Given the description of an element on the screen output the (x, y) to click on. 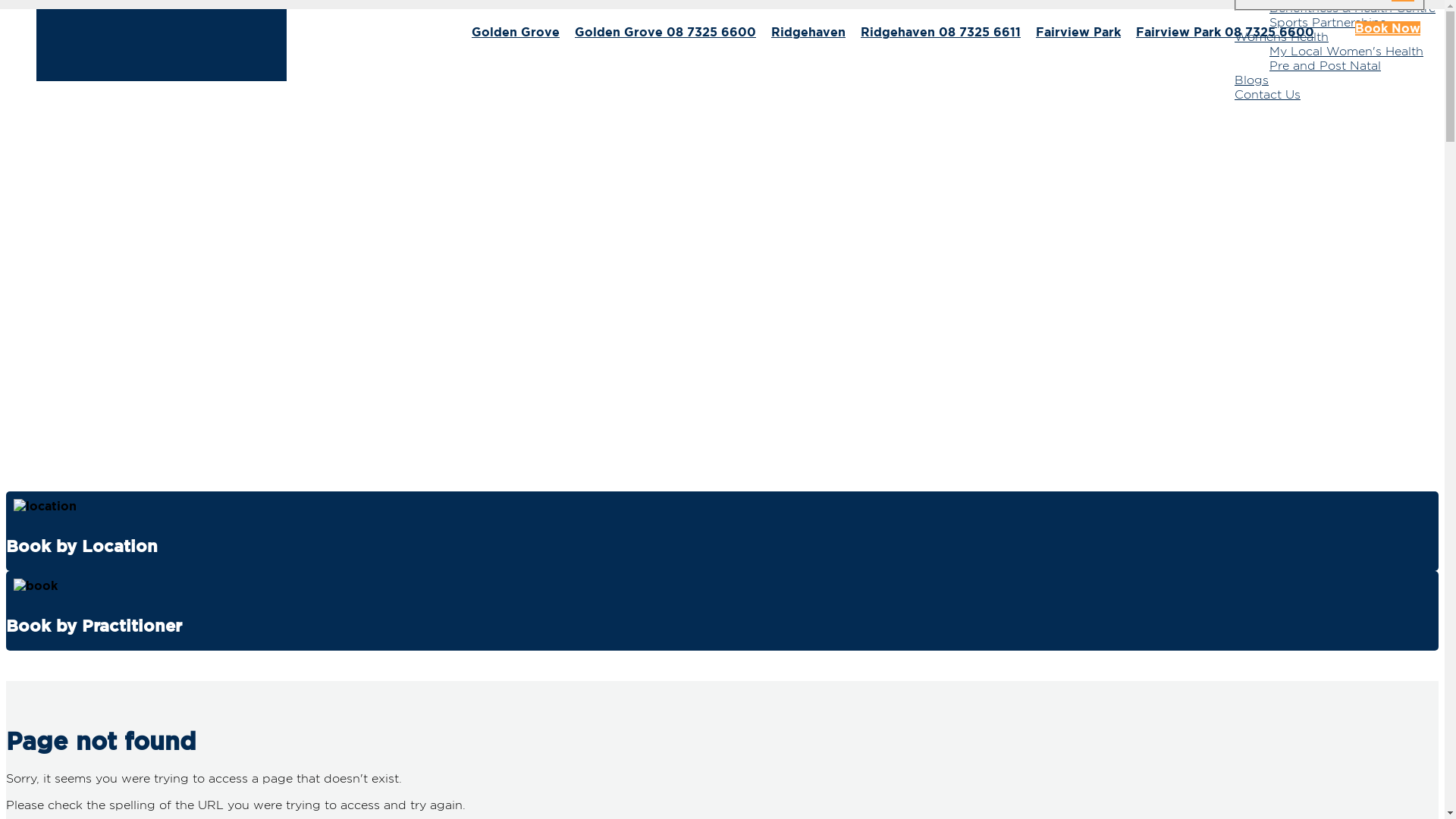
Contact Us Element type: text (1267, 94)
Fairview Park 08 7325 6600 Element type: text (1224, 32)
Ridgehaven 08 7325 6611 Element type: text (940, 32)
Book Now Element type: text (1387, 28)
Book by Location Element type: text (722, 531)
Pre and Post Natal Element type: text (1324, 65)
Golden Grove Element type: text (515, 32)
Benefitness & Health Centre Element type: text (1352, 7)
Golden Grove 08 7325 6600 Element type: text (665, 32)
Blogs Element type: text (1251, 79)
Book by Practitioner Element type: text (722, 610)
Womens Health Element type: text (1281, 36)
My Local Women's Health Element type: text (1346, 50)
Ridgehaven Element type: text (808, 32)
Sports Partnerships Element type: text (1327, 22)
Fairview Park Element type: text (1077, 32)
